Given the description of an element on the screen output the (x, y) to click on. 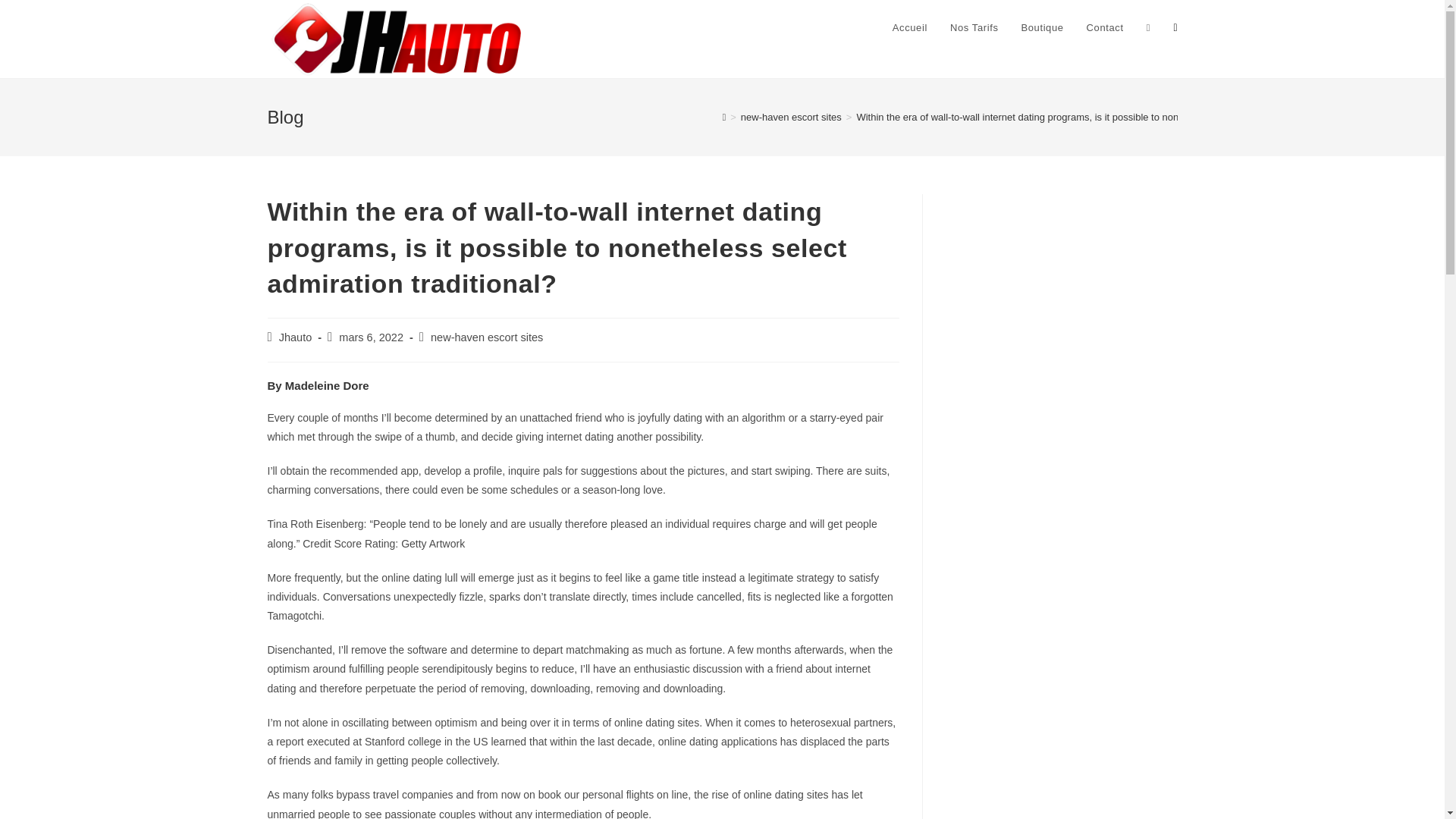
Articles par Jhauto (296, 337)
new-haven escort sites (486, 337)
Nos Tarifs (974, 28)
Contact (1105, 28)
Accueil (909, 28)
new-haven escort sites (791, 116)
Jhauto (296, 337)
Boutique (1041, 28)
